Given the description of an element on the screen output the (x, y) to click on. 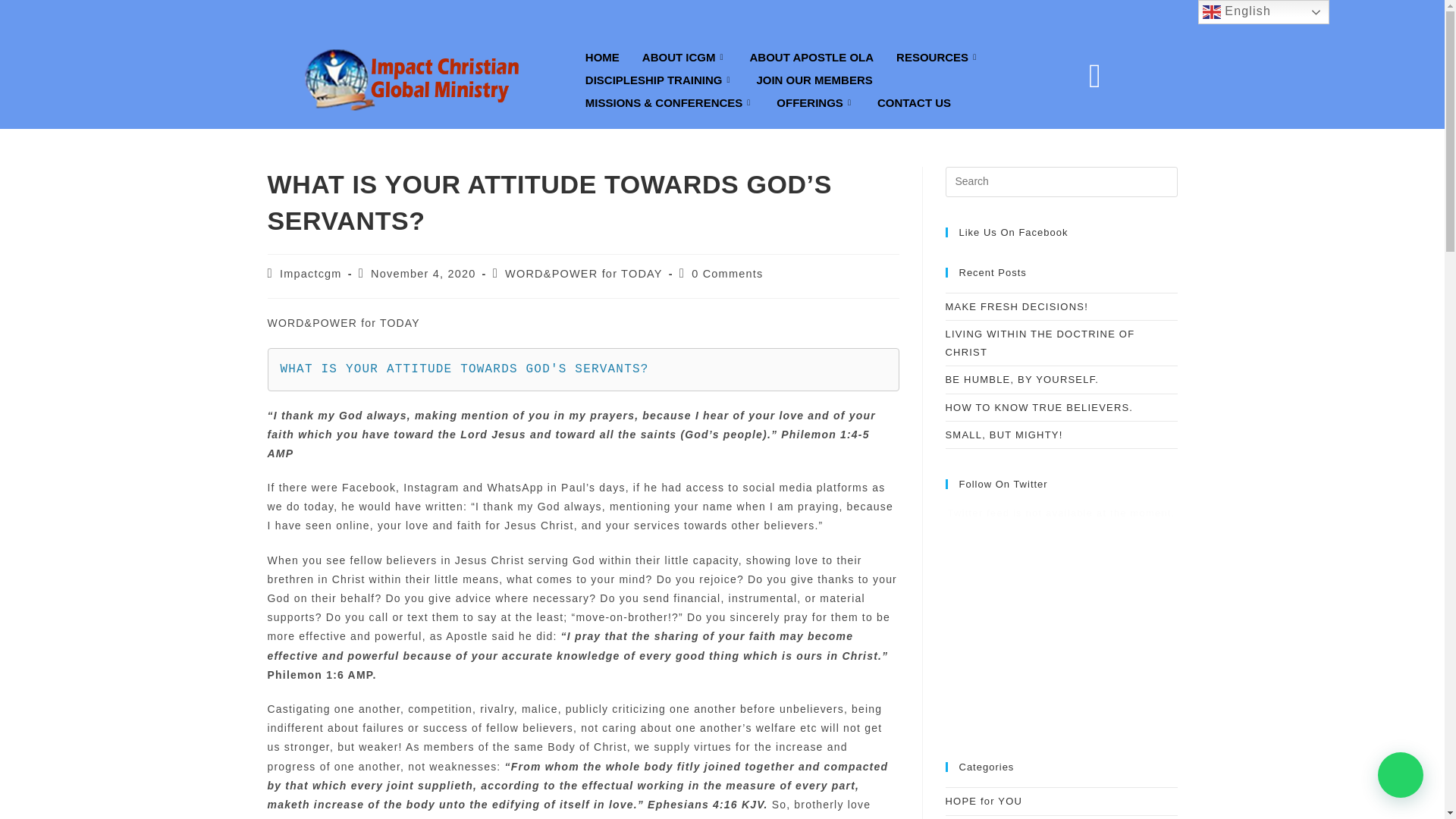
0 Comments (726, 273)
JOIN OUR MEMBERS (813, 78)
OFFERINGS (815, 101)
HOME (601, 56)
ABOUT ICGM (684, 56)
RESOURCES (938, 56)
CONTACT US (914, 101)
Impactcgm (310, 273)
Posts by Impactcgm (310, 273)
DISCIPLESHIP TRAINING (659, 78)
ABOUT APOSTLE OLA (811, 56)
